Given the description of an element on the screen output the (x, y) to click on. 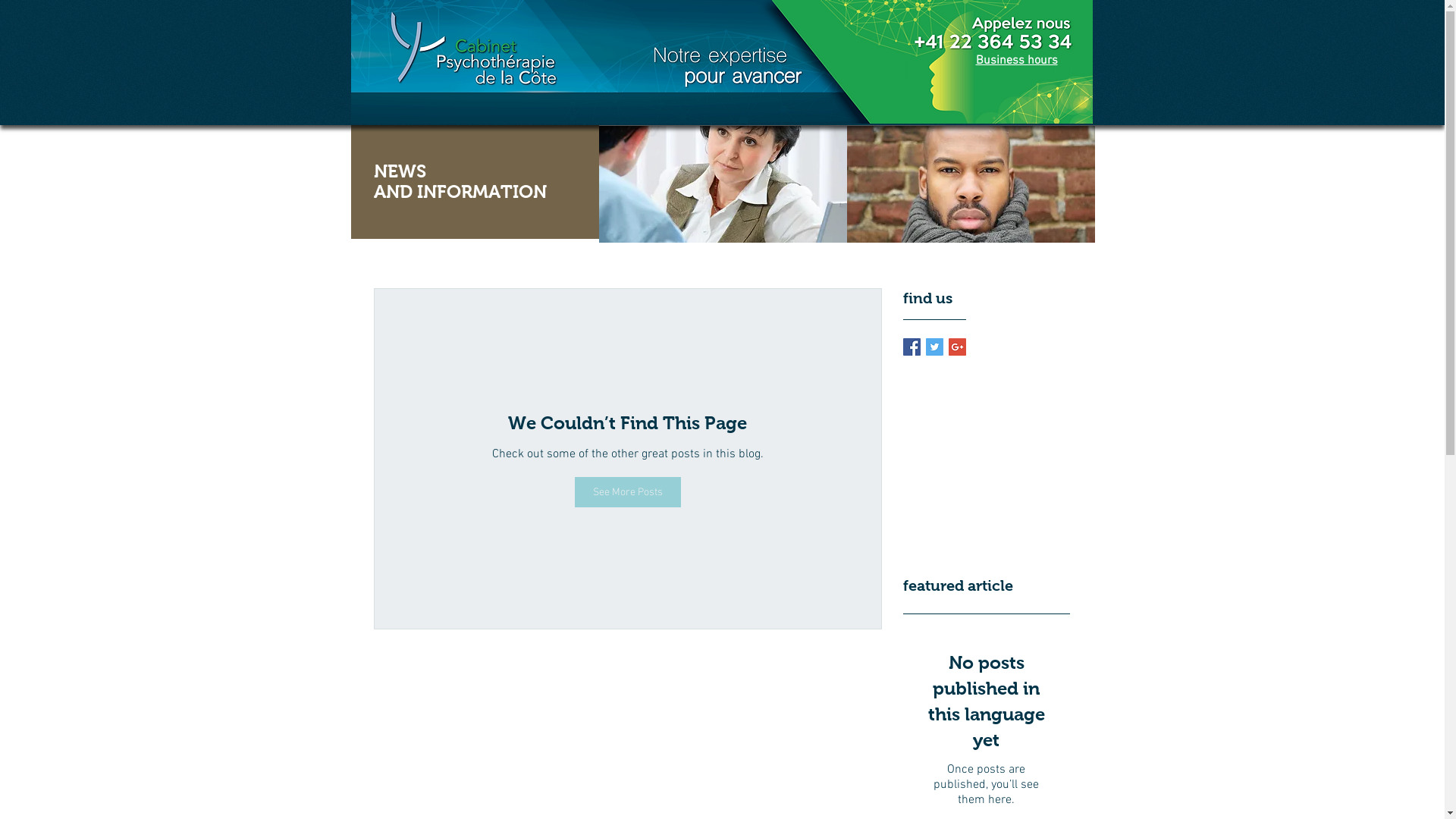
See More Posts Element type: text (627, 491)
Business hours Element type: text (1016, 60)
